Given the description of an element on the screen output the (x, y) to click on. 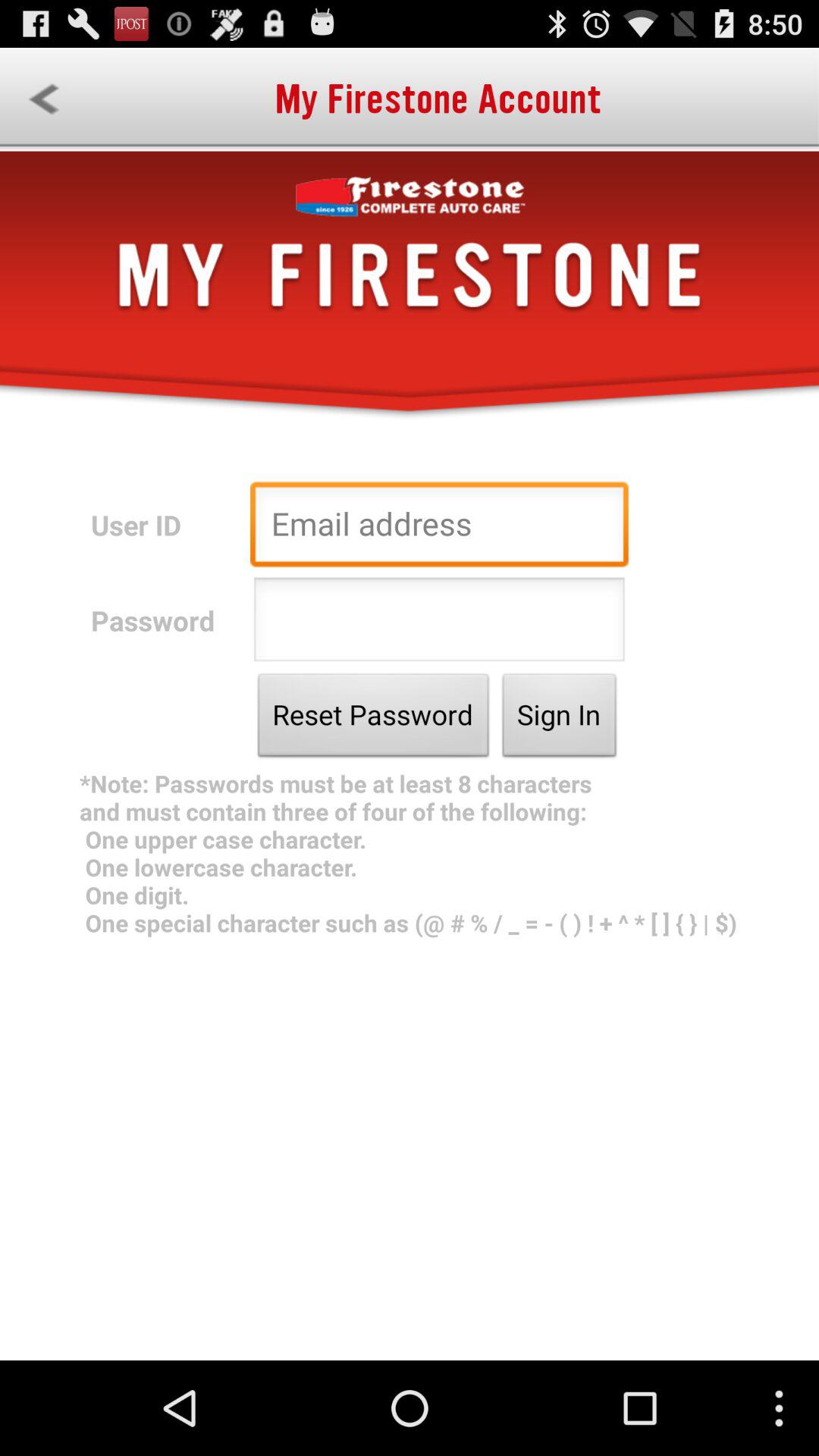
open the app above the note passwords must app (373, 719)
